Given the description of an element on the screen output the (x, y) to click on. 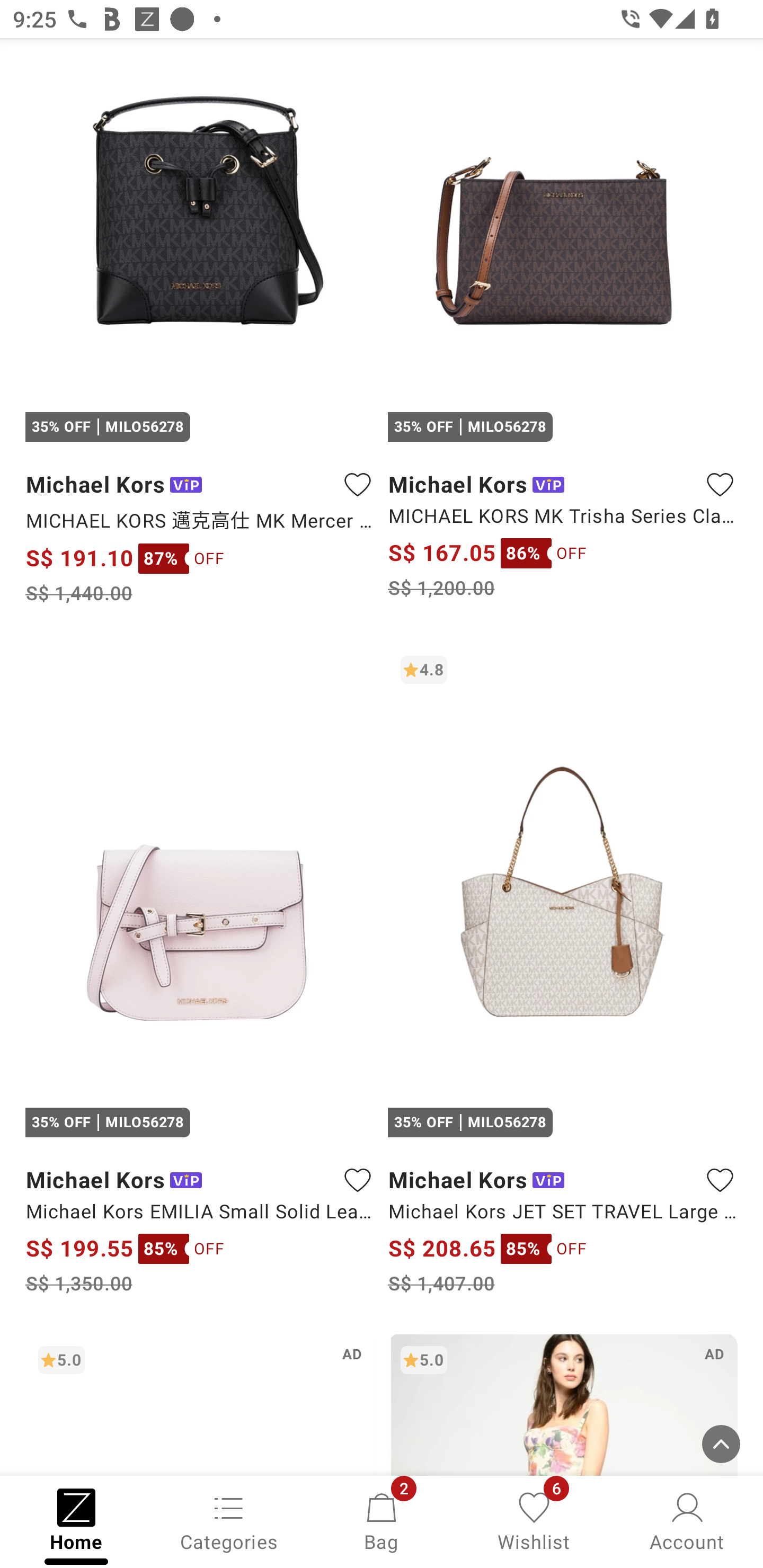
Categories (228, 1519)
Bag, 2 new notifications Bag (381, 1519)
Wishlist, 6 new notifications Wishlist (533, 1519)
Account (686, 1519)
